Given the description of an element on the screen output the (x, y) to click on. 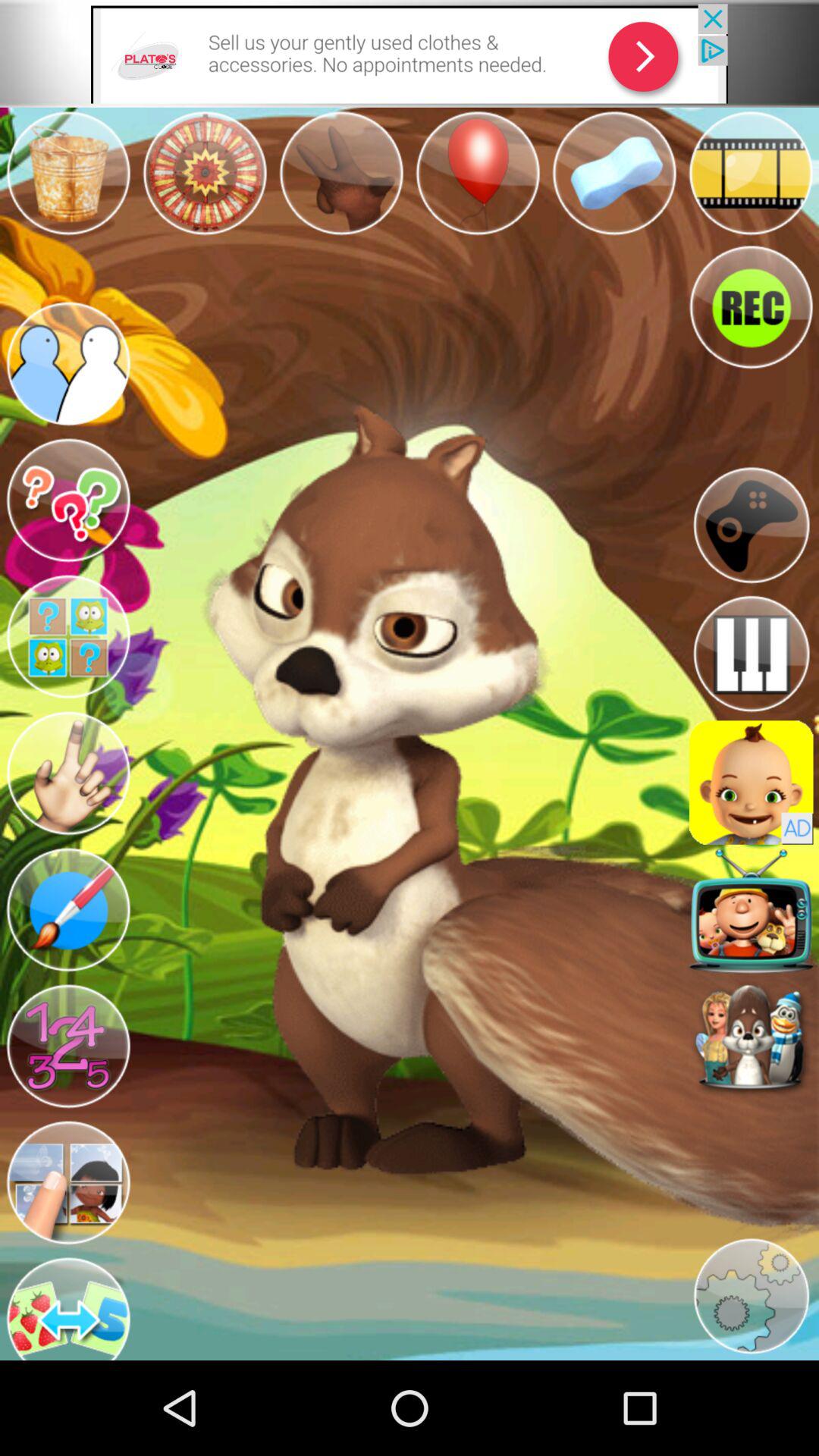
open music widget (751, 653)
